Given the description of an element on the screen output the (x, y) to click on. 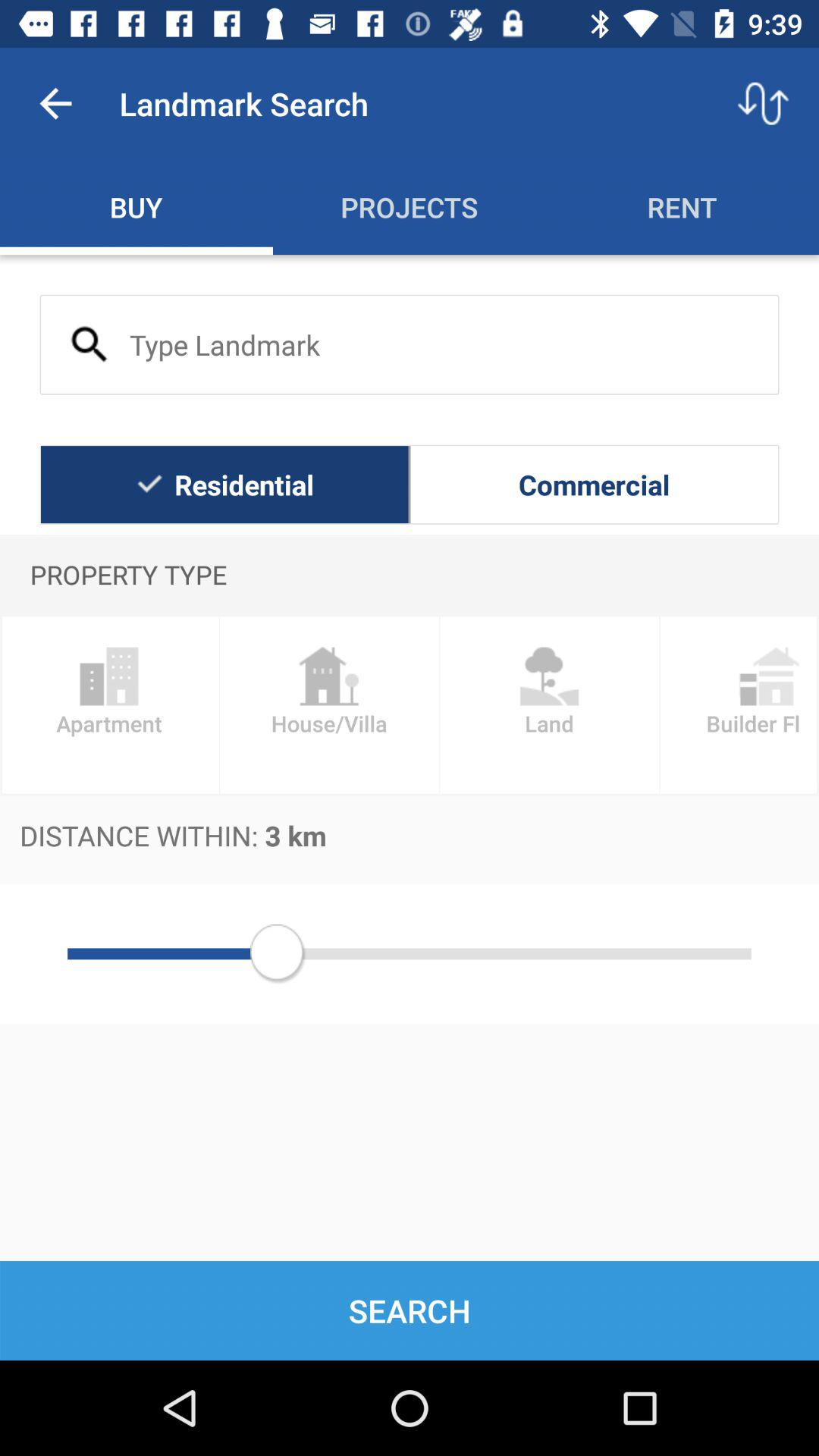
select the icon next to landmark search (55, 103)
